Given the description of an element on the screen output the (x, y) to click on. 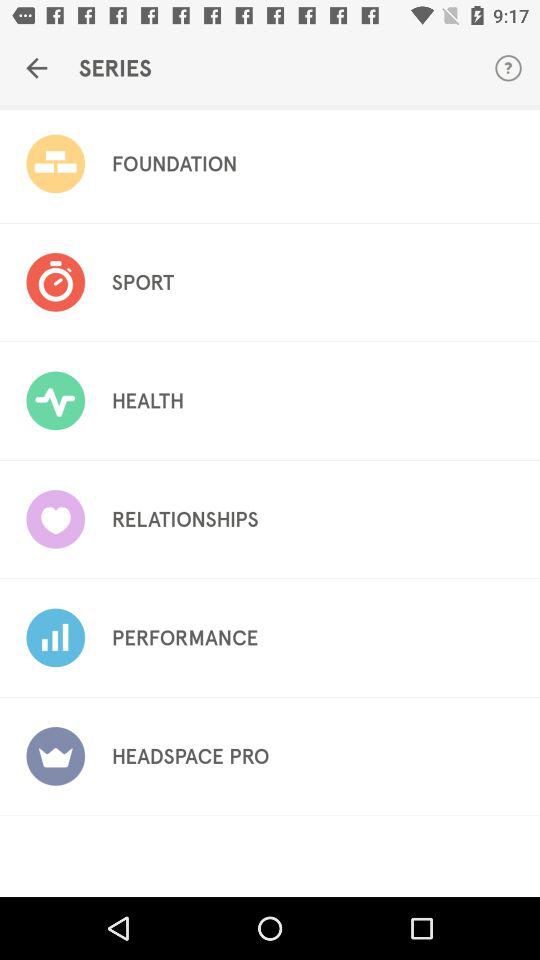
turn on the item below the health (184, 519)
